Given the description of an element on the screen output the (x, y) to click on. 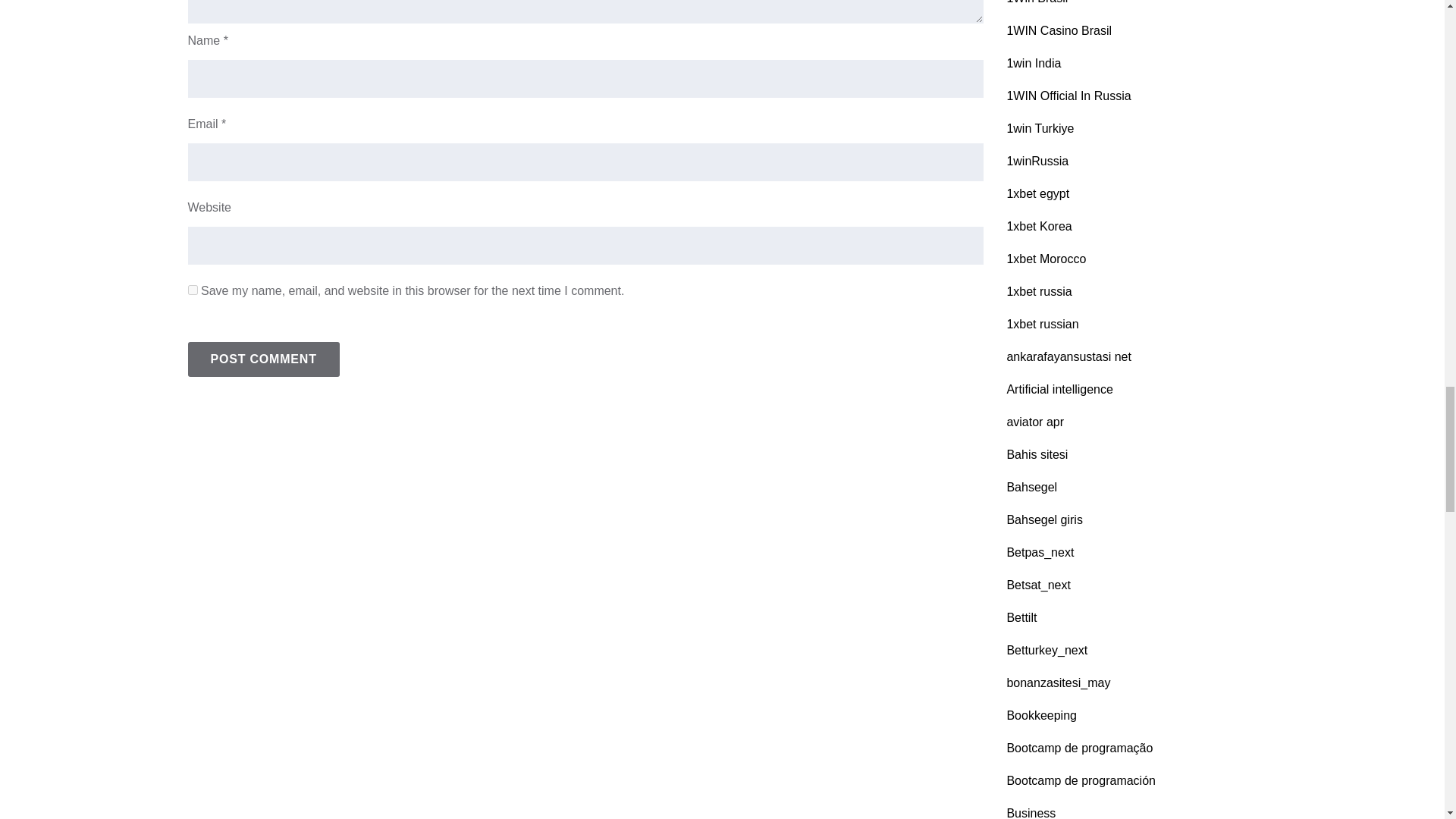
Post Comment (263, 359)
Post Comment (263, 359)
yes (192, 289)
